Given the description of an element on the screen output the (x, y) to click on. 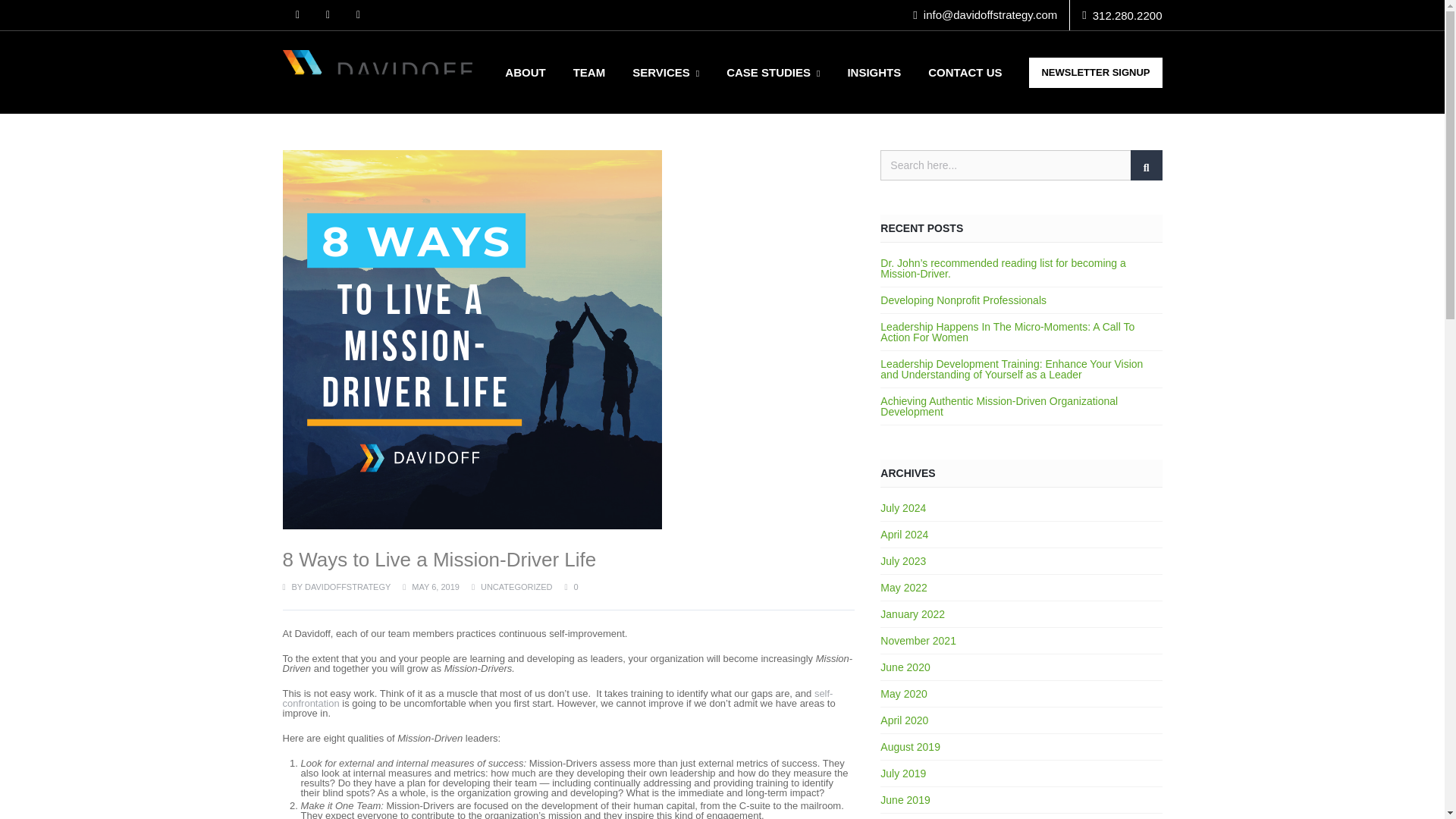
ABOUT (525, 72)
Posts by DavidoffStrategy (347, 586)
View all posts in Uncategorized (516, 586)
TEAM (589, 72)
SERVICES (665, 72)
Search here... (1020, 164)
CONTACT US (964, 72)
 Follow on Facebook (327, 15)
CASE STUDIES (772, 72)
Davidoff Strategy (376, 72)
